Given the description of an element on the screen output the (x, y) to click on. 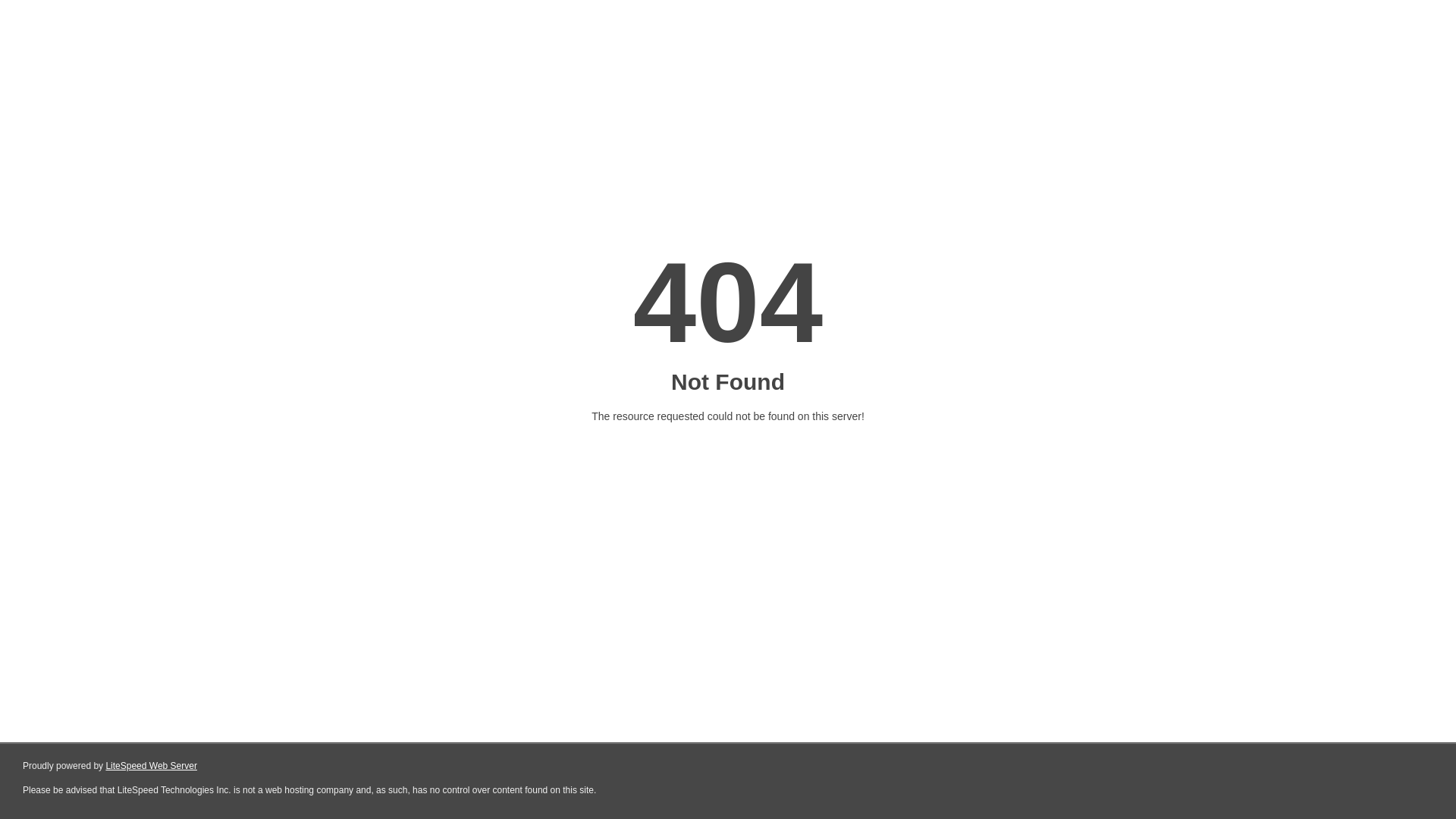
LiteSpeed Web Server Element type: text (151, 765)
